Given the description of an element on the screen output the (x, y) to click on. 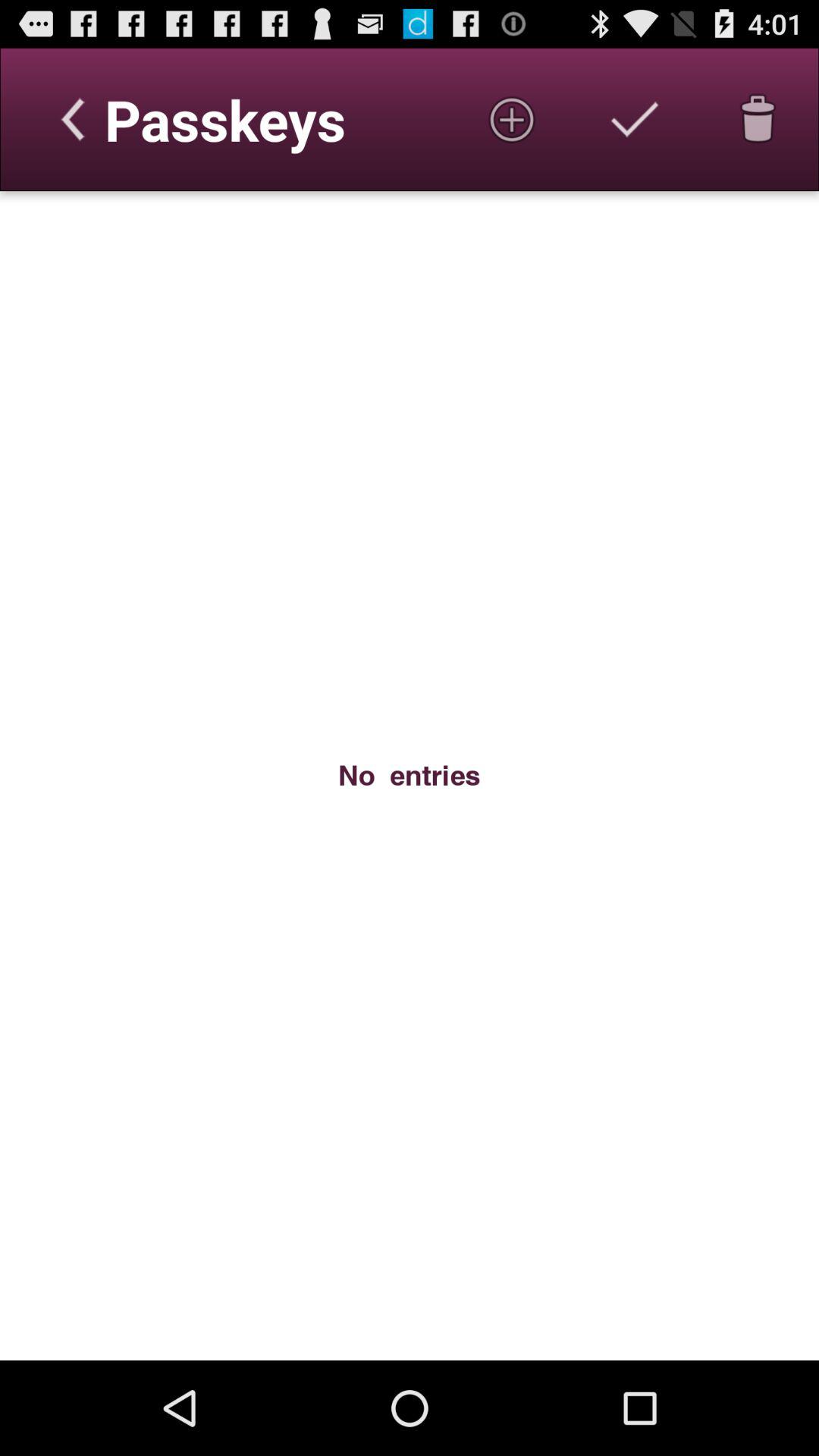
delete passkeys (757, 119)
